Given the description of an element on the screen output the (x, y) to click on. 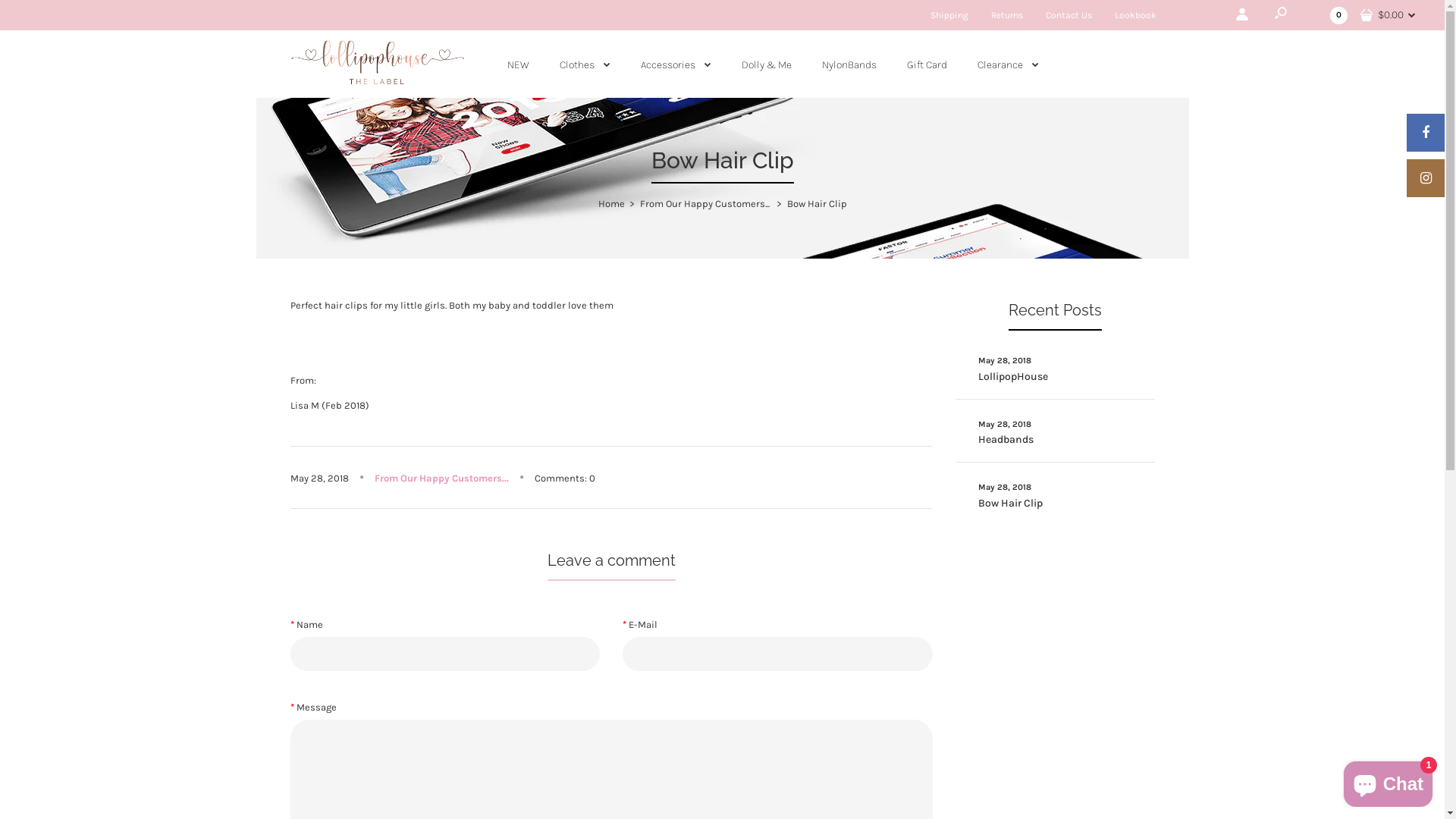
Returns Element type: text (1006, 14)
Home Element type: text (610, 203)
Contact Us Element type: text (1068, 14)
LollipopHouse Element type: hover (376, 61)
NylonBands Element type: text (849, 64)
Bow Hair Clip Element type: text (817, 203)
Dolly & Me Element type: text (766, 64)
LollipopHouse Element type: hover (376, 84)
Accessories Element type: text (675, 64)
Shopify online store chat Element type: hover (1388, 780)
From Our Happy Customers... Element type: text (441, 477)
May 28, 2018
LollipopHouse Element type: text (1055, 367)
Shipping Element type: text (949, 14)
NEW Element type: text (517, 64)
Lookbook Element type: text (1135, 14)
0
$0.00 Element type: text (1372, 15)
Clothes Element type: text (584, 64)
Gift Card Element type: text (926, 64)
Clearance Element type: text (1007, 64)
May 28, 2018
Bow Hair Clip Element type: text (1055, 493)
From Our Happy Customers... Element type: text (704, 203)
May 28, 2018
Headbands Element type: text (1055, 430)
